Given the description of an element on the screen output the (x, y) to click on. 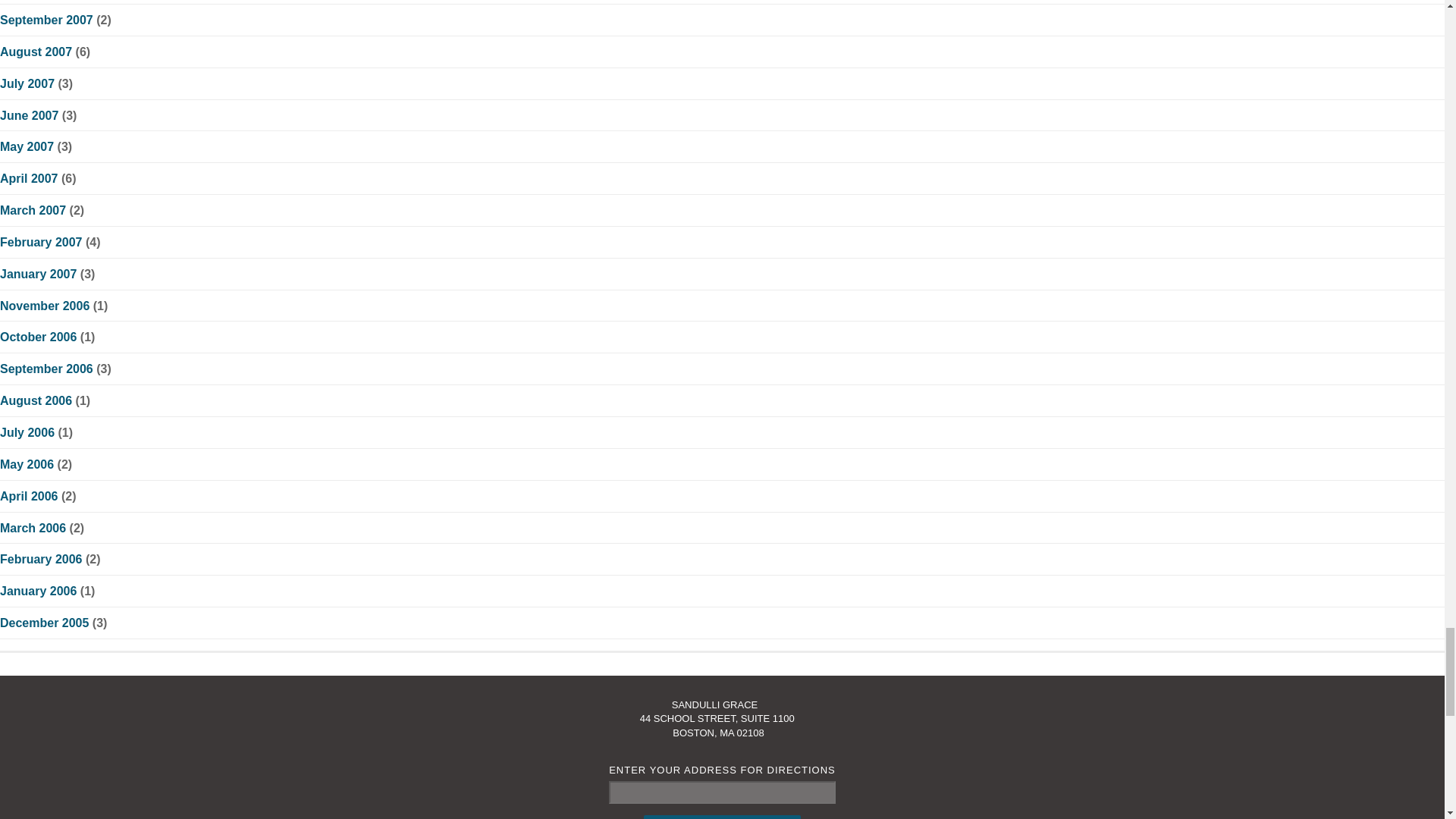
Get directions (721, 816)
